Given the description of an element on the screen output the (x, y) to click on. 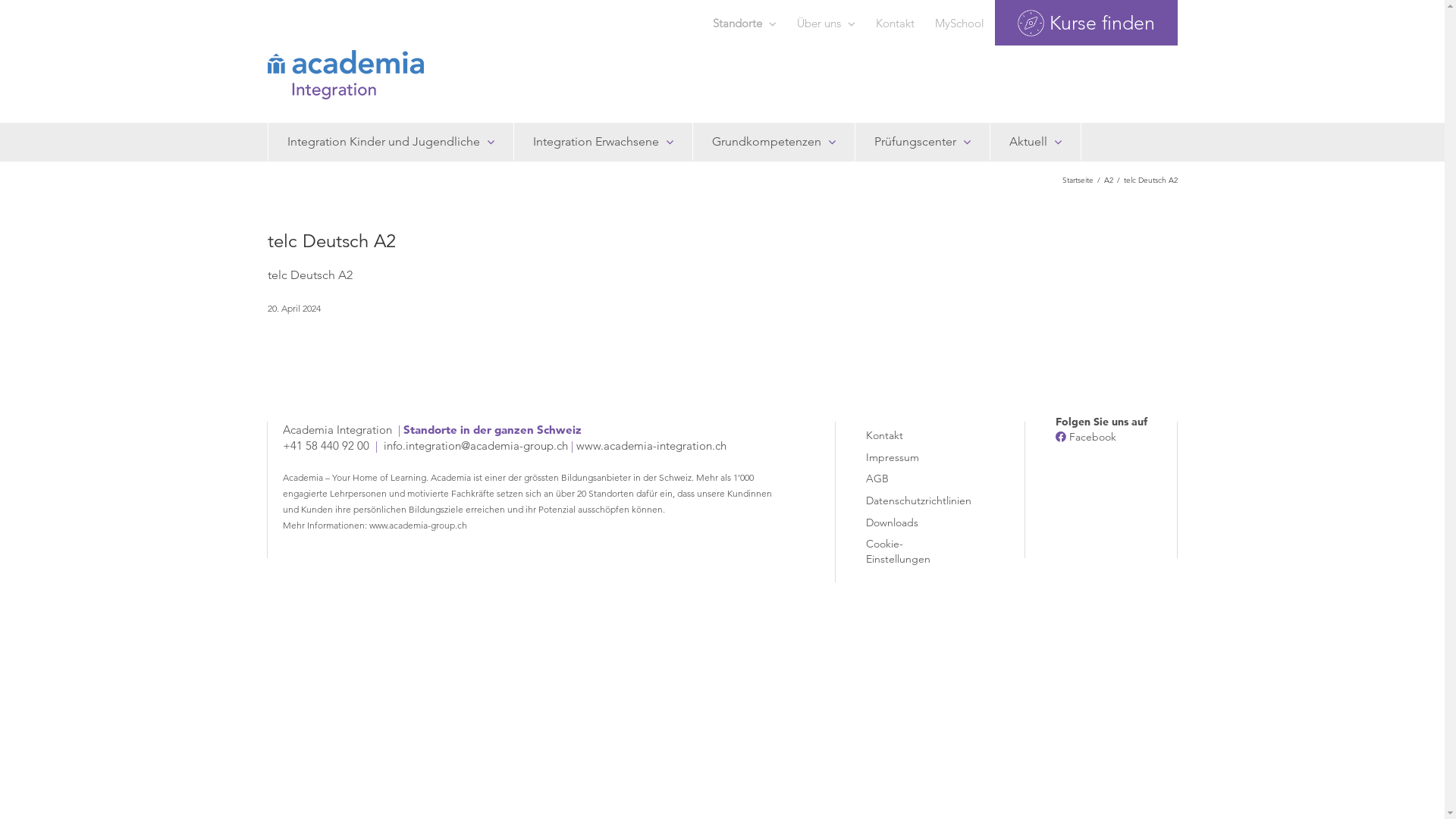
Integration Erwachsene Element type: text (602, 141)
www.academia-group.ch Element type: text (418, 524)
Impressum Element type: text (911, 455)
www.academia-integration.ch Element type: text (651, 445)
A2 Element type: text (1108, 179)
Downloads Element type: text (911, 520)
AGB Element type: text (911, 476)
Cookie-Einstellungen Element type: text (911, 548)
info.integration@academia-group.ch Element type: text (475, 445)
Startseite Element type: text (1076, 179)
Standorte in der ganzen Schweiz Element type: text (492, 429)
Grundkompetenzen Element type: text (772, 141)
Standorte Element type: text (743, 22)
Facebook Element type: text (1092, 436)
MySchool Element type: text (959, 22)
Kurse finden Element type: text (1085, 22)
Kontakt Element type: text (895, 22)
Kontakt Element type: text (911, 433)
Integration Kinder und Jugendliche Element type: text (389, 141)
Aktuell Element type: text (1034, 141)
Datenschutzrichtlinien Element type: text (911, 498)
